Given the description of an element on the screen output the (x, y) to click on. 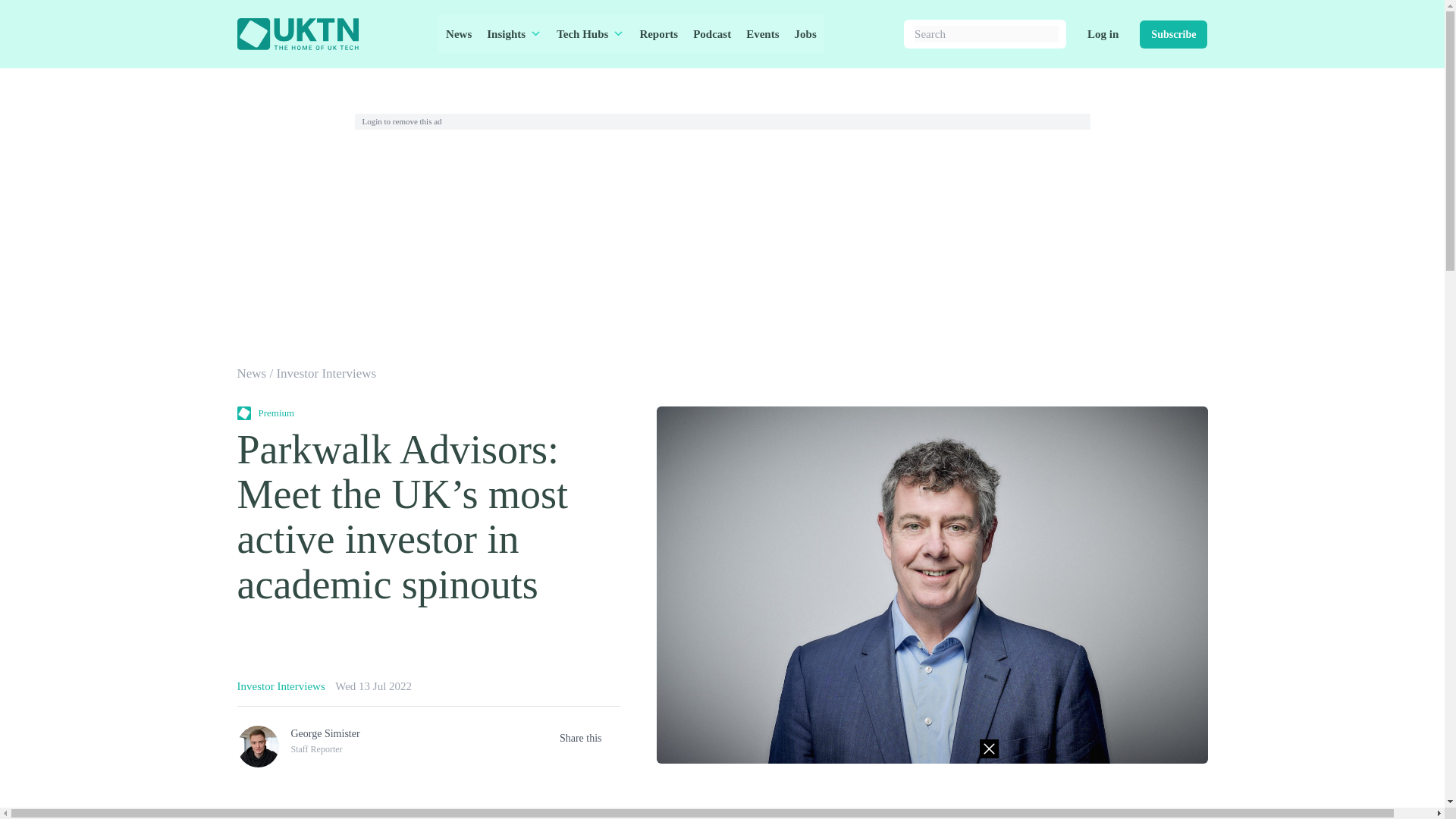
Podcast (711, 34)
Jobs (805, 34)
George Simister (325, 733)
3rd party ad content (721, 773)
Log in (1102, 34)
Investor Interviews (279, 686)
Reports (658, 34)
Subscribe (1173, 33)
Investor Interviews (325, 373)
Posts by George Simister (325, 733)
Insights (513, 34)
News (250, 373)
Search for: (986, 34)
News (458, 34)
